Given the description of an element on the screen output the (x, y) to click on. 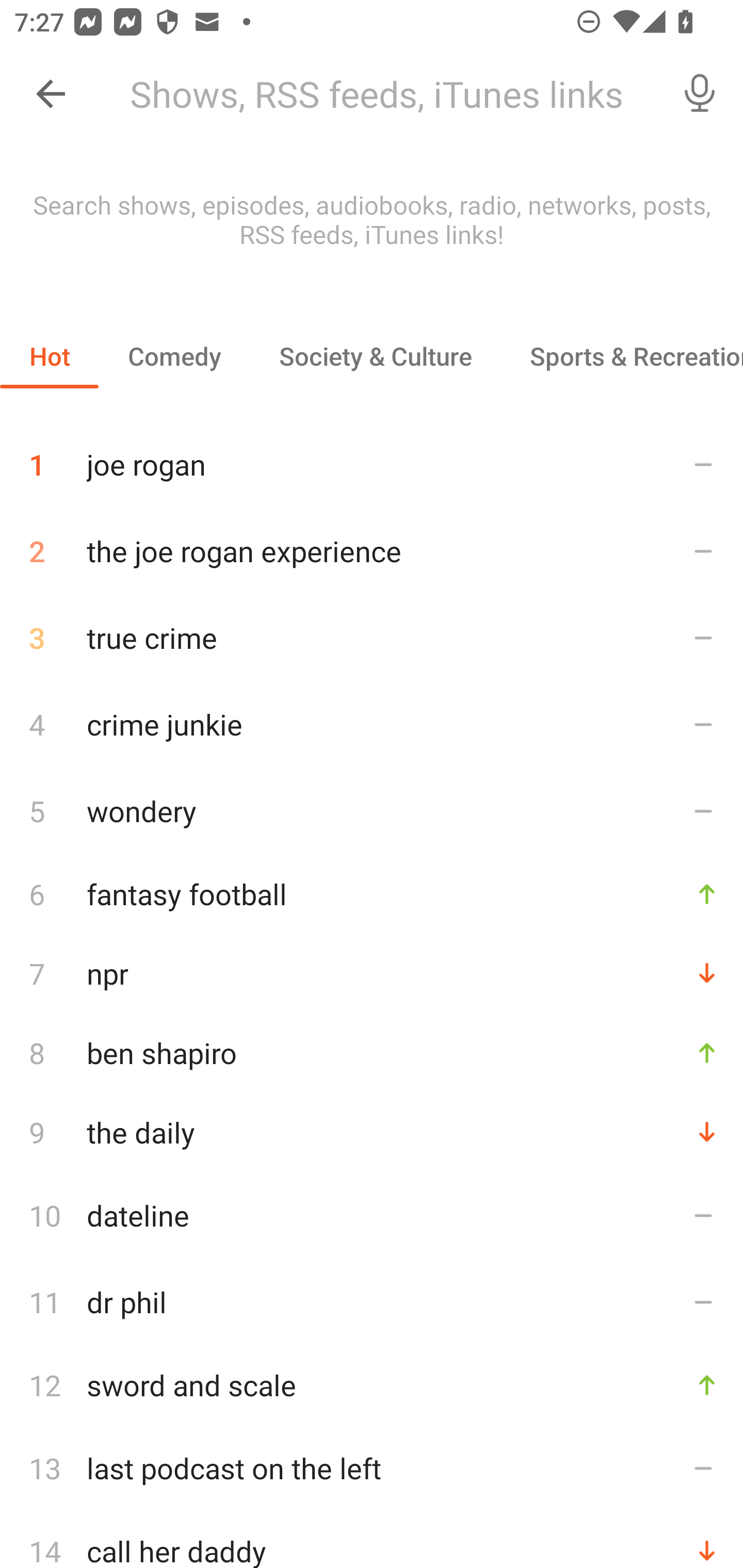
Collapse (50, 93)
Voice Search (699, 93)
Shows, RSS feeds, iTunes links (385, 94)
Hot (49, 355)
Comedy (173, 355)
Society & Culture (374, 355)
Sports & Recreation (621, 355)
1 joe rogan (371, 457)
2 the joe rogan experience (371, 551)
3 true crime (371, 637)
4 crime junkie (371, 723)
5 wondery (371, 810)
6 fantasy football (371, 893)
7 npr (371, 972)
8 ben shapiro (371, 1052)
9 the daily (371, 1131)
10 dateline (371, 1215)
11 dr phil (371, 1302)
12 sword and scale (371, 1385)
13 last podcast on the left (371, 1468)
14 call her daddy (371, 1539)
